Given the description of an element on the screen output the (x, y) to click on. 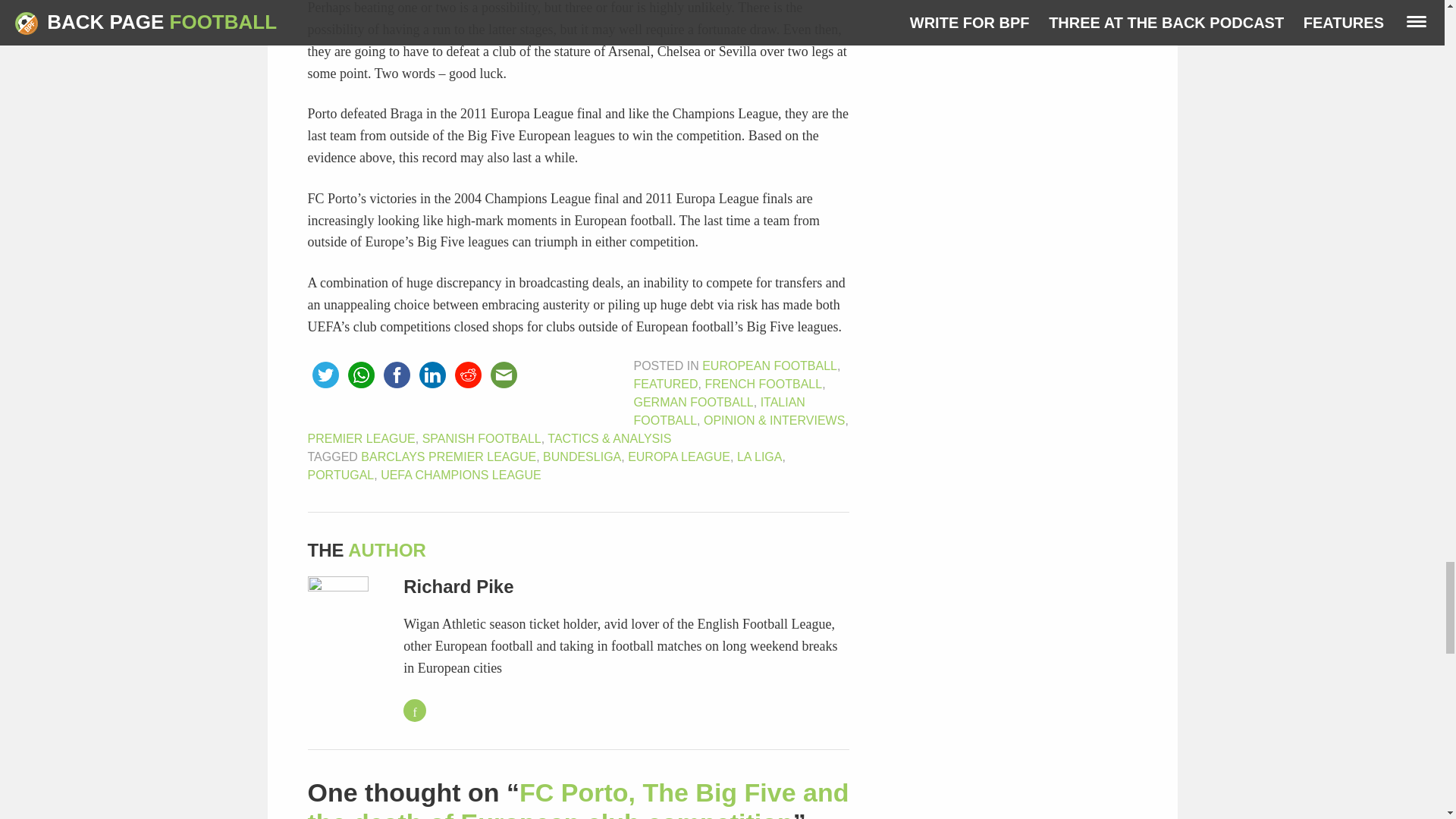
linkedin (431, 375)
whatsapp (360, 375)
email (502, 375)
twitter (325, 375)
facebook (396, 375)
reddit (467, 375)
